Given the description of an element on the screen output the (x, y) to click on. 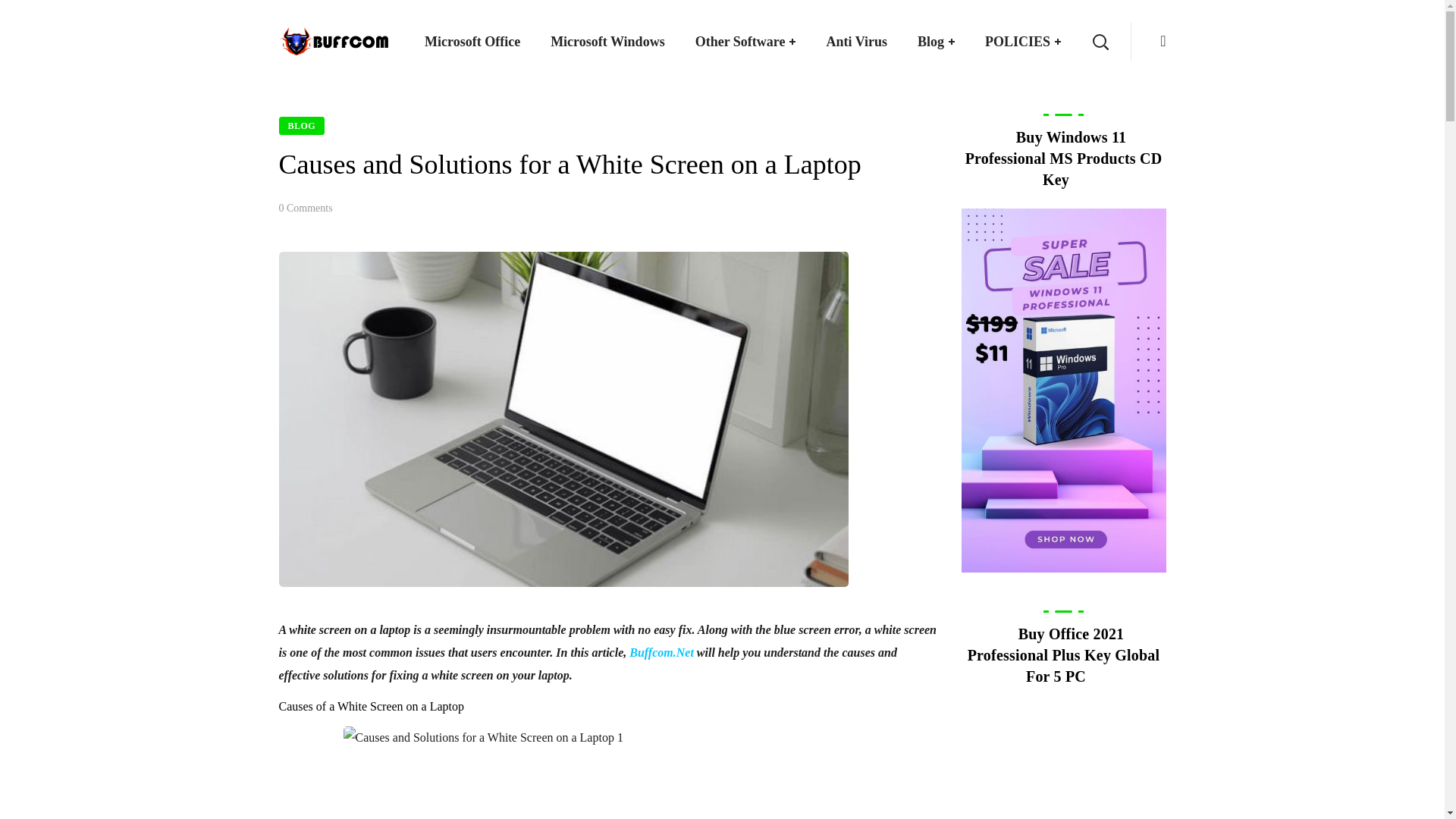
Other Software (744, 41)
Microsoft Office (472, 41)
Anti Virus (856, 41)
Search (1052, 113)
Microsoft Windows (607, 41)
Causes and Solutions for a White Screen on a Laptop 1 (607, 772)
POLICIES (1022, 41)
